Given the description of an element on the screen output the (x, y) to click on. 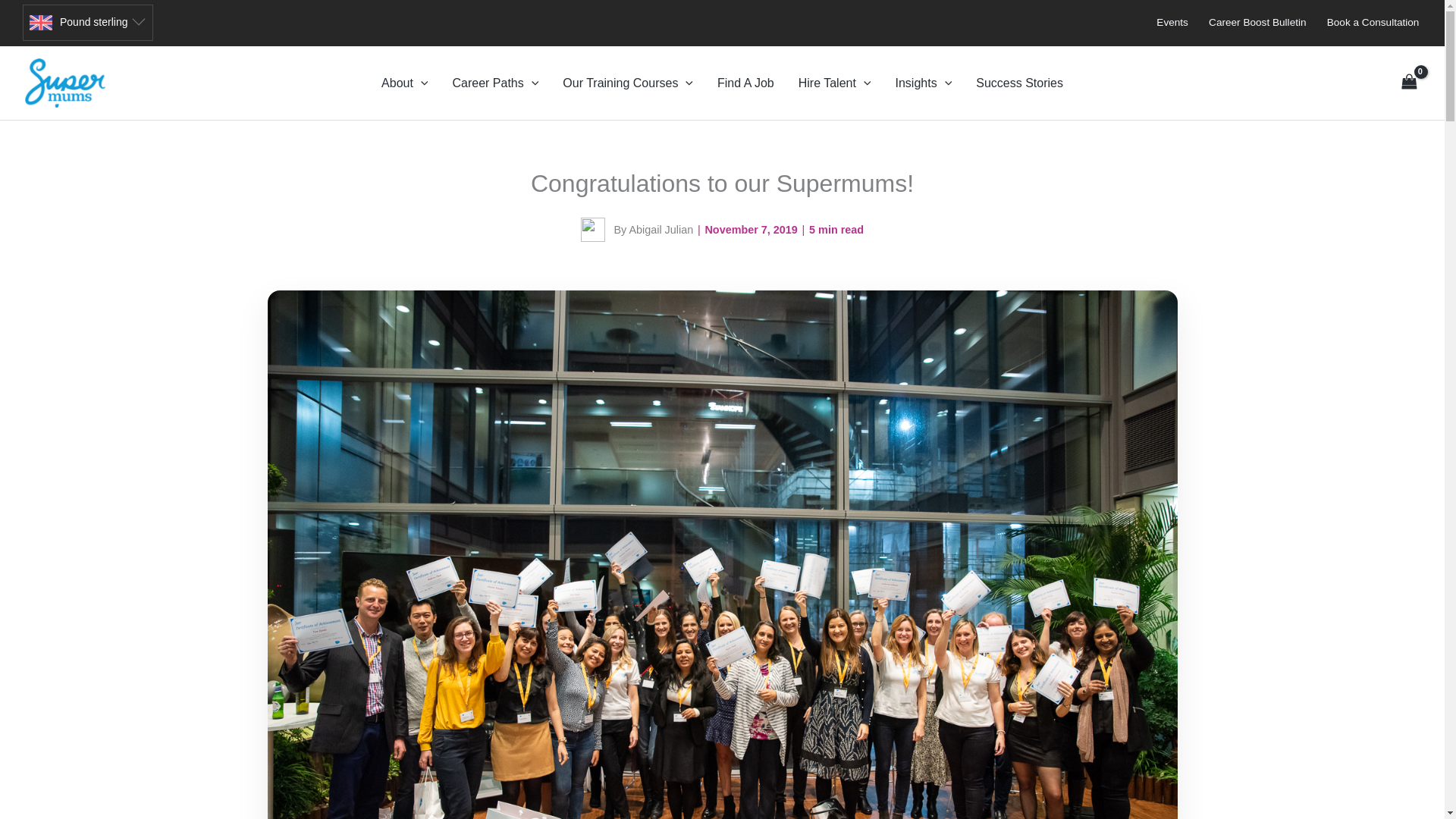
Events (1172, 22)
Find A Job (745, 83)
Career Boost Bulletin (1257, 22)
Our Training Courses (627, 83)
Hire Talent (834, 83)
Book a Consultation (1372, 22)
Career Paths (494, 83)
About (404, 83)
Insights (922, 83)
